Given the description of an element on the screen output the (x, y) to click on. 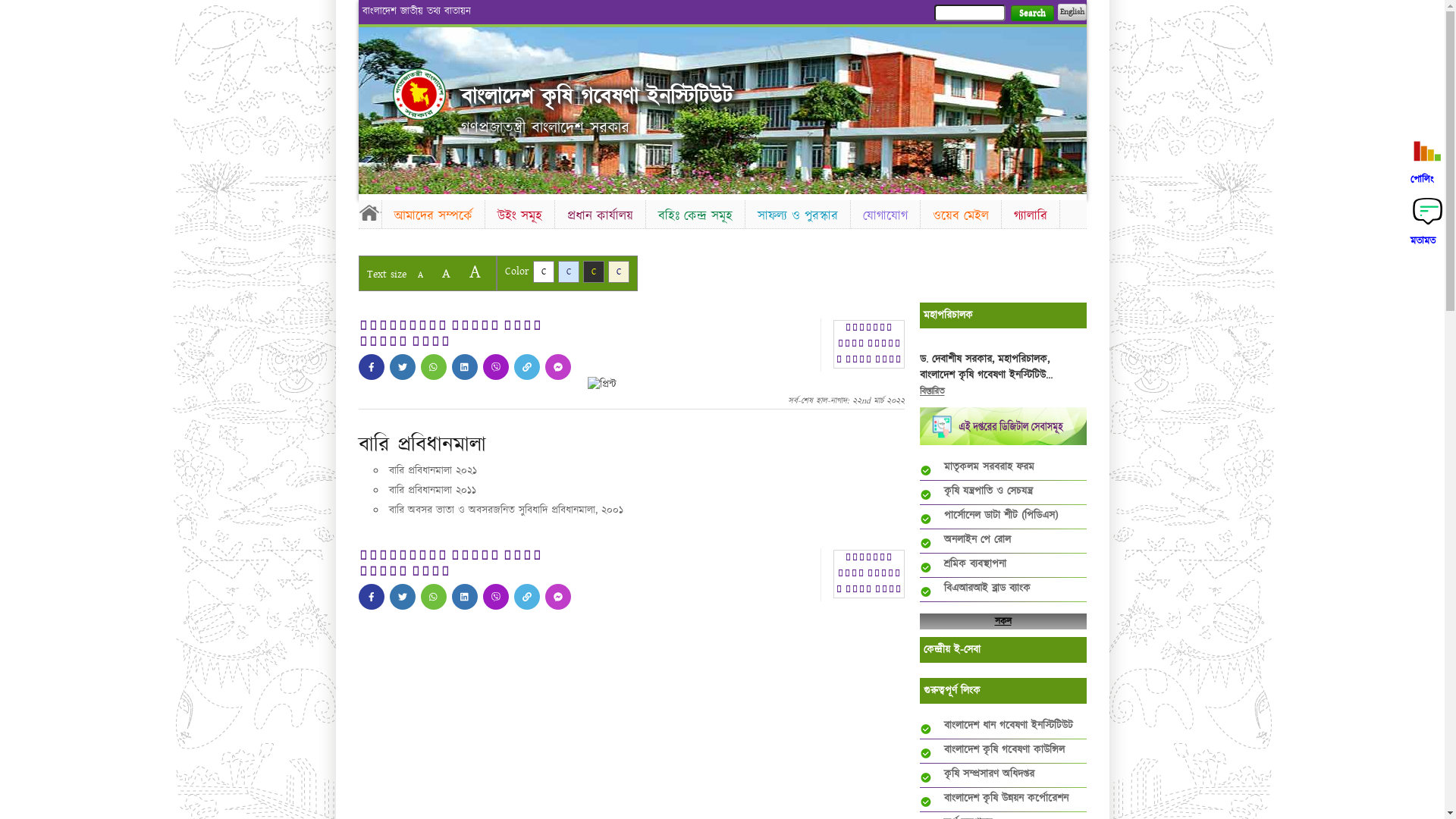
C Element type: text (592, 271)
English Element type: text (1071, 11)
Search Element type: text (1031, 13)
C Element type: text (618, 271)
A Element type: text (445, 273)
A Element type: text (474, 271)
A Element type: text (419, 274)
Home Element type: hover (368, 211)
Home Element type: hover (418, 93)
C Element type: text (568, 271)
C Element type: text (542, 271)
